Given the description of an element on the screen output the (x, y) to click on. 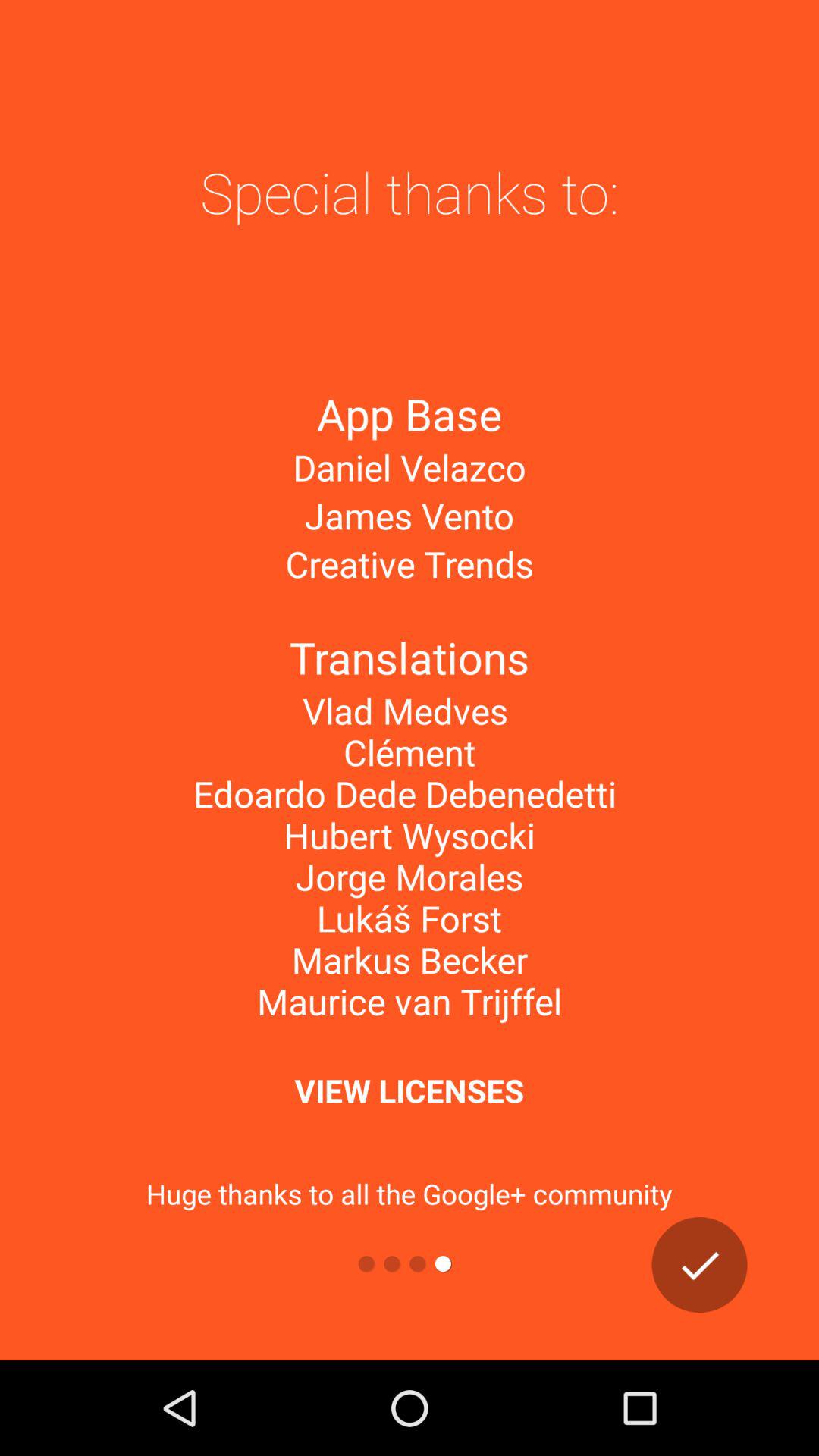
enter (699, 1264)
